Given the description of an element on the screen output the (x, y) to click on. 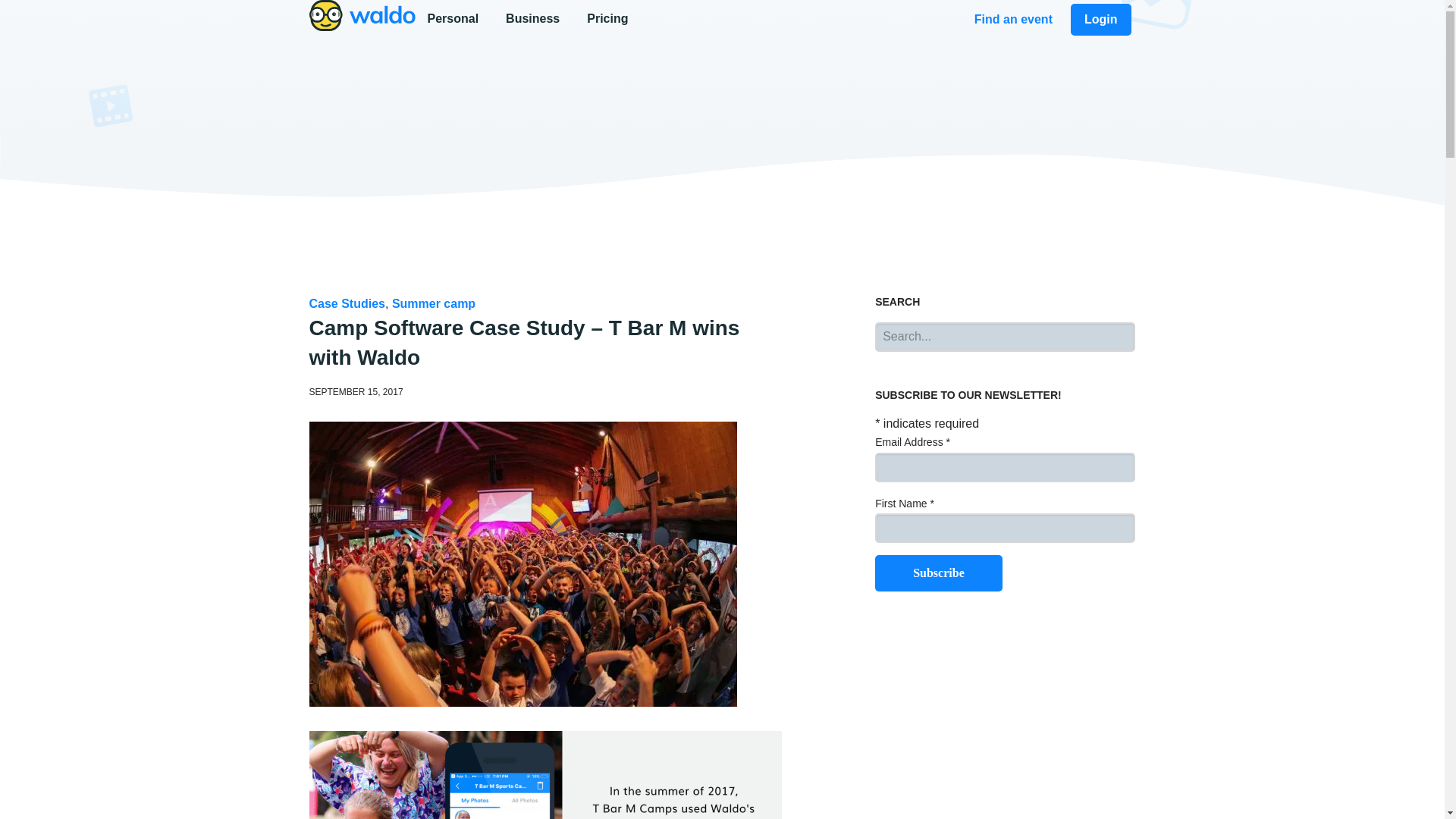
Personal (454, 18)
Search for: (1005, 337)
Subscribe (721, 19)
